Given the description of an element on the screen output the (x, y) to click on. 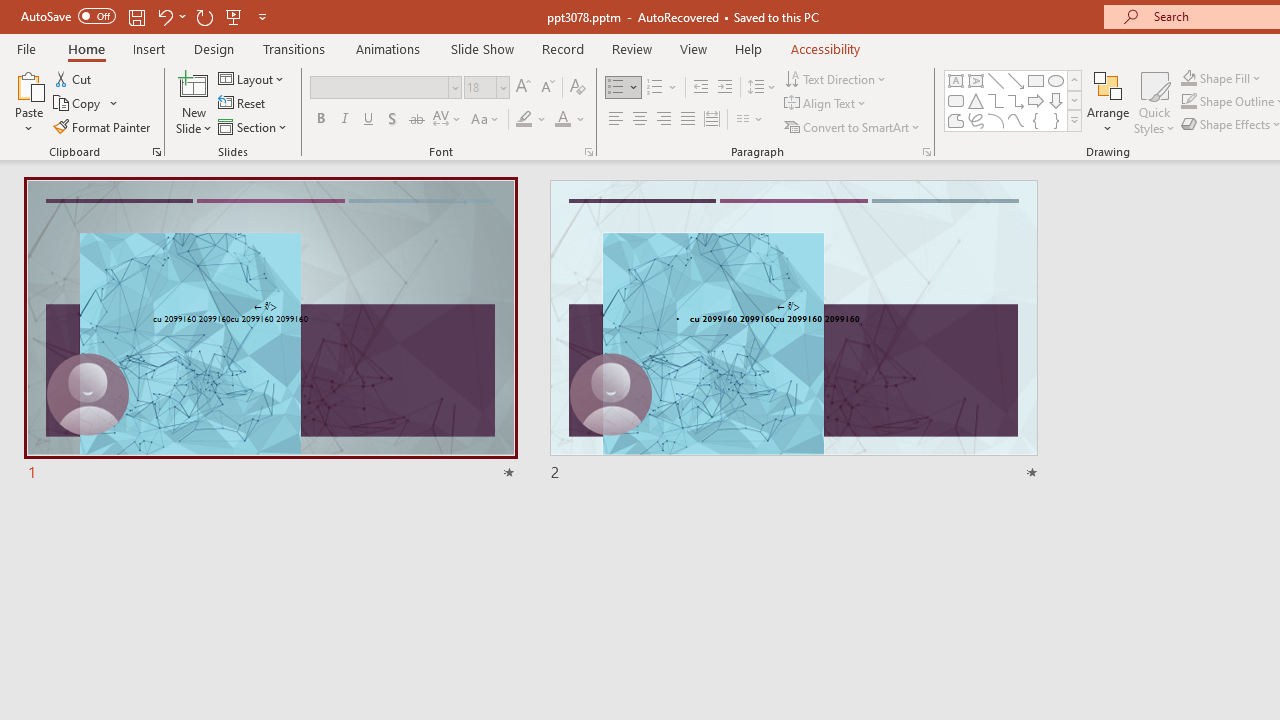
Section (254, 126)
Shape Fill Dark Green, Accent 2 (1188, 78)
